Given the description of an element on the screen output the (x, y) to click on. 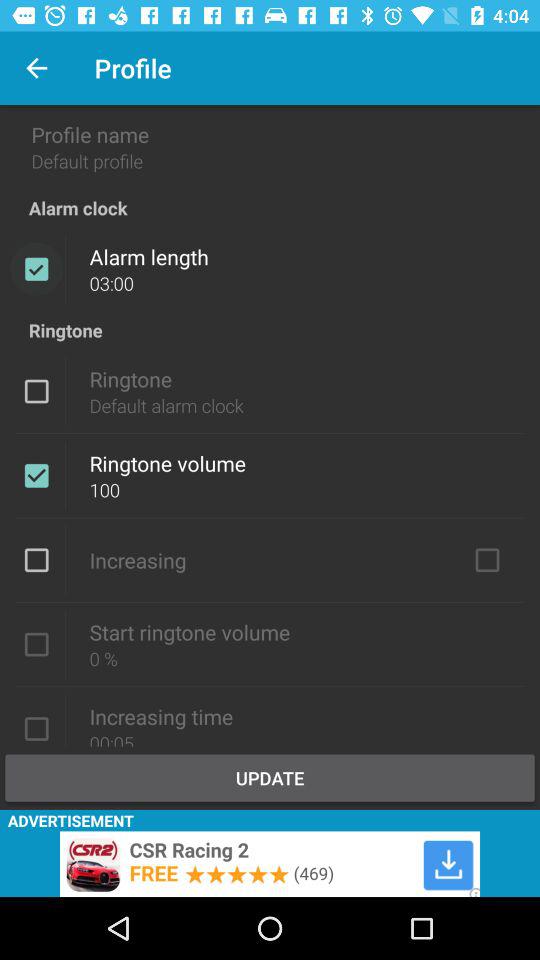
select rington volume (36, 644)
